Given the description of an element on the screen output the (x, y) to click on. 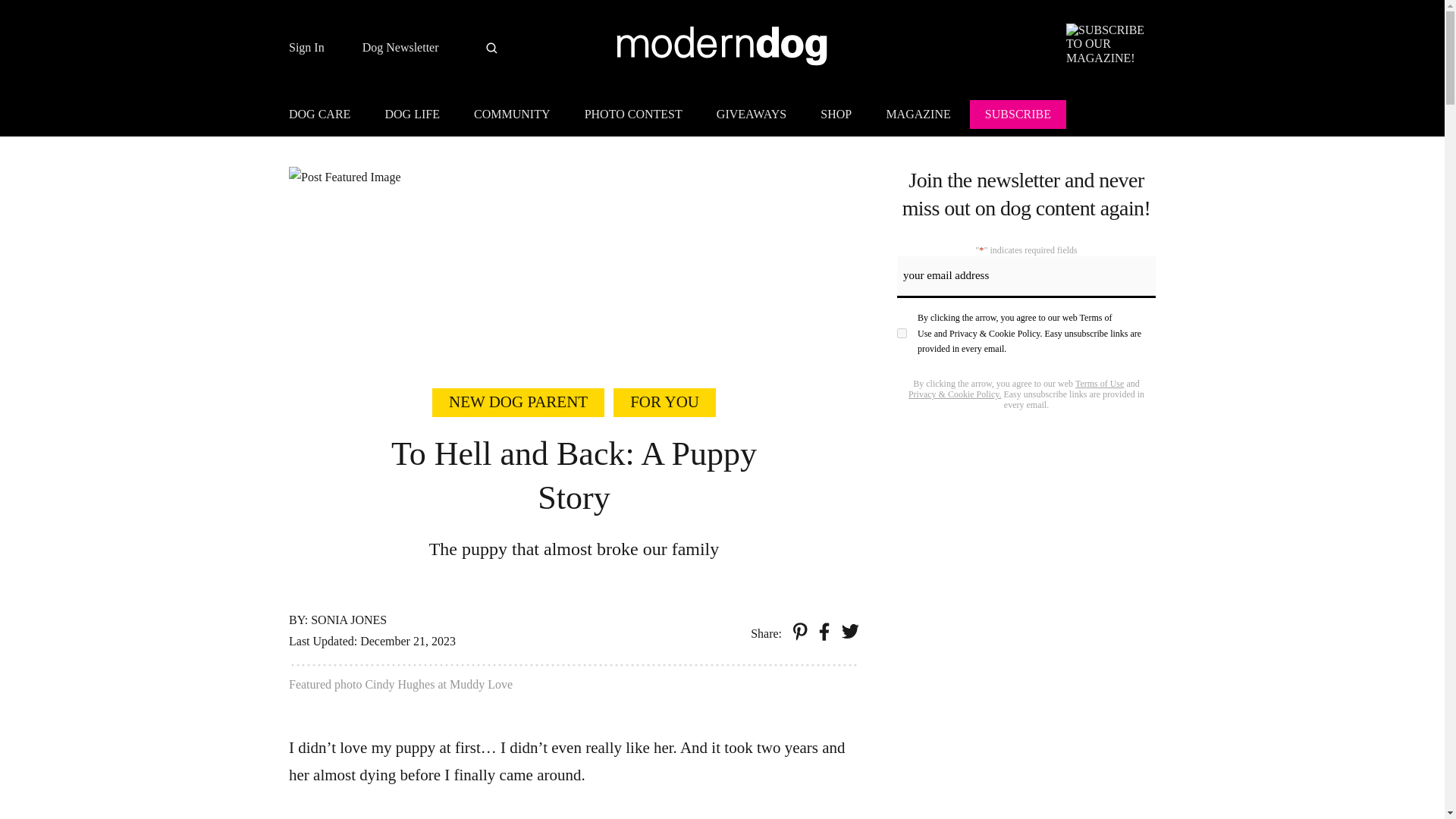
Dog Newsletter (400, 47)
DOG LIFE (411, 116)
DOG CARE (326, 116)
Sign In (306, 47)
